Given the description of an element on the screen output the (x, y) to click on. 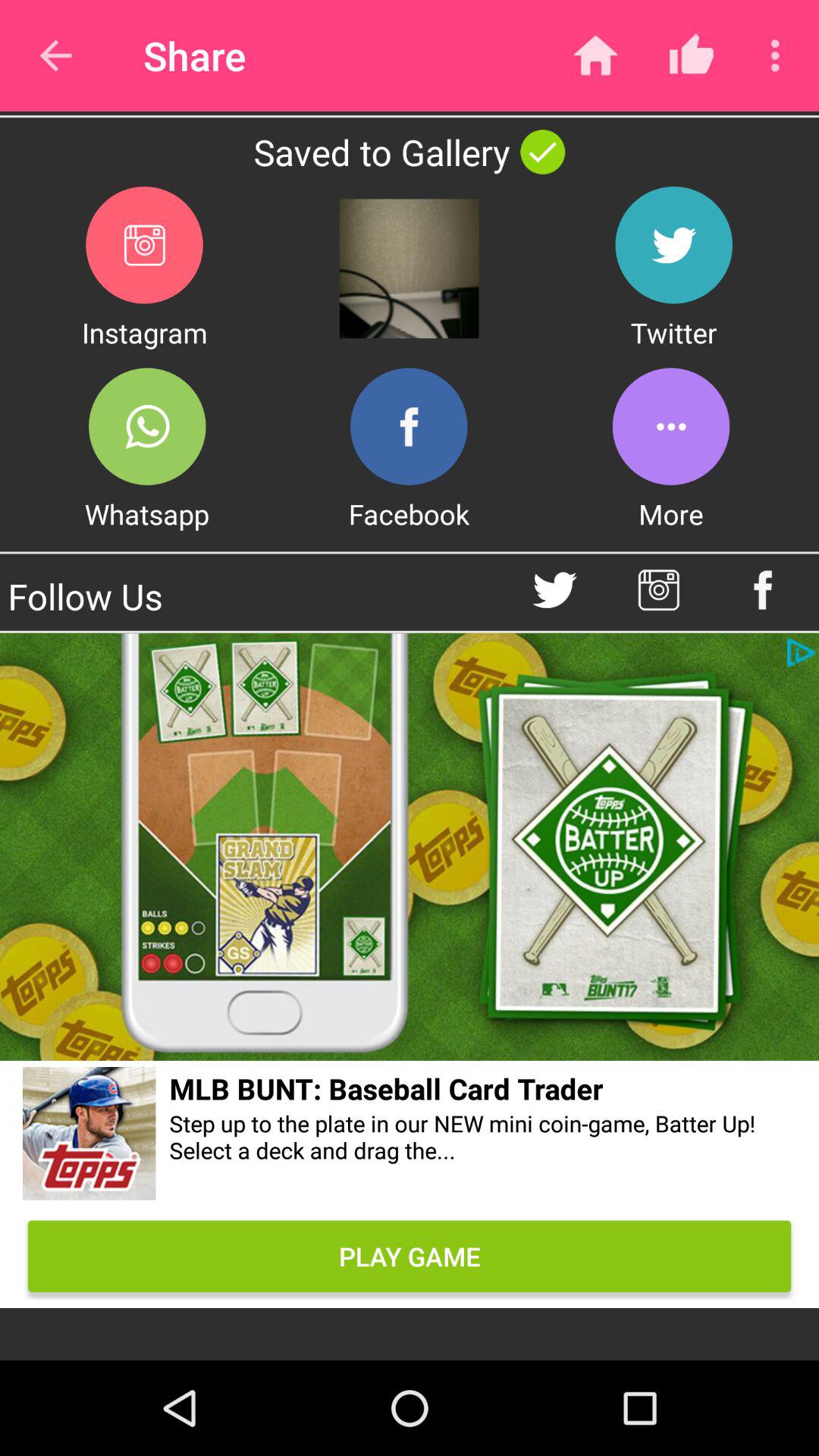
twitter (554, 589)
